Given the description of an element on the screen output the (x, y) to click on. 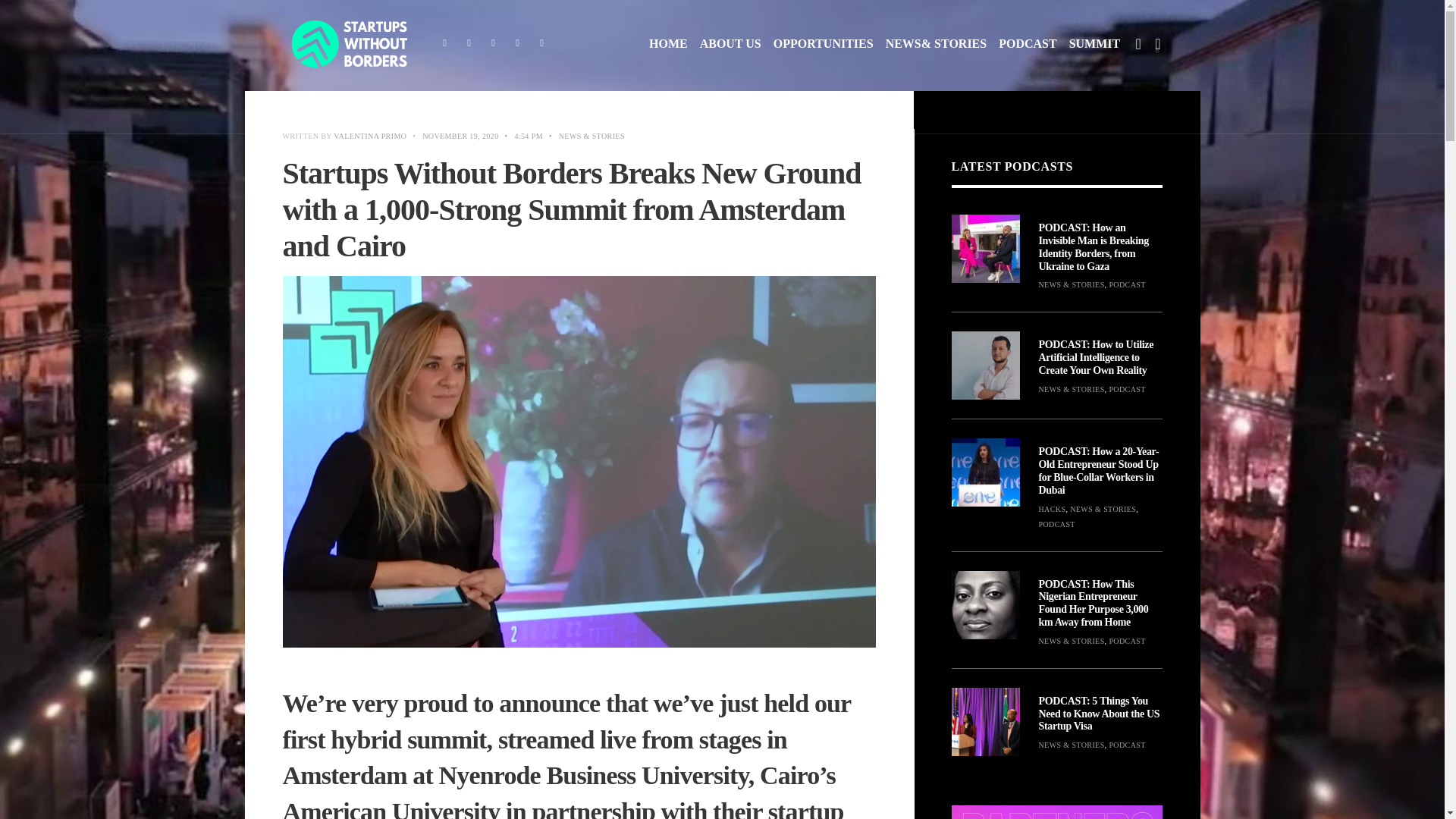
ABOUT US (730, 43)
OPPORTUNITIES (823, 43)
YouTube (516, 43)
LinkedIn (541, 43)
HOME (668, 43)
VALENTINA PRIMO (369, 135)
LATEST PODCASTS (1011, 165)
Instagram (492, 43)
Posts by Valentina Primo (369, 135)
SUMMIT (1094, 43)
Twitter (468, 43)
